Given the description of an element on the screen output the (x, y) to click on. 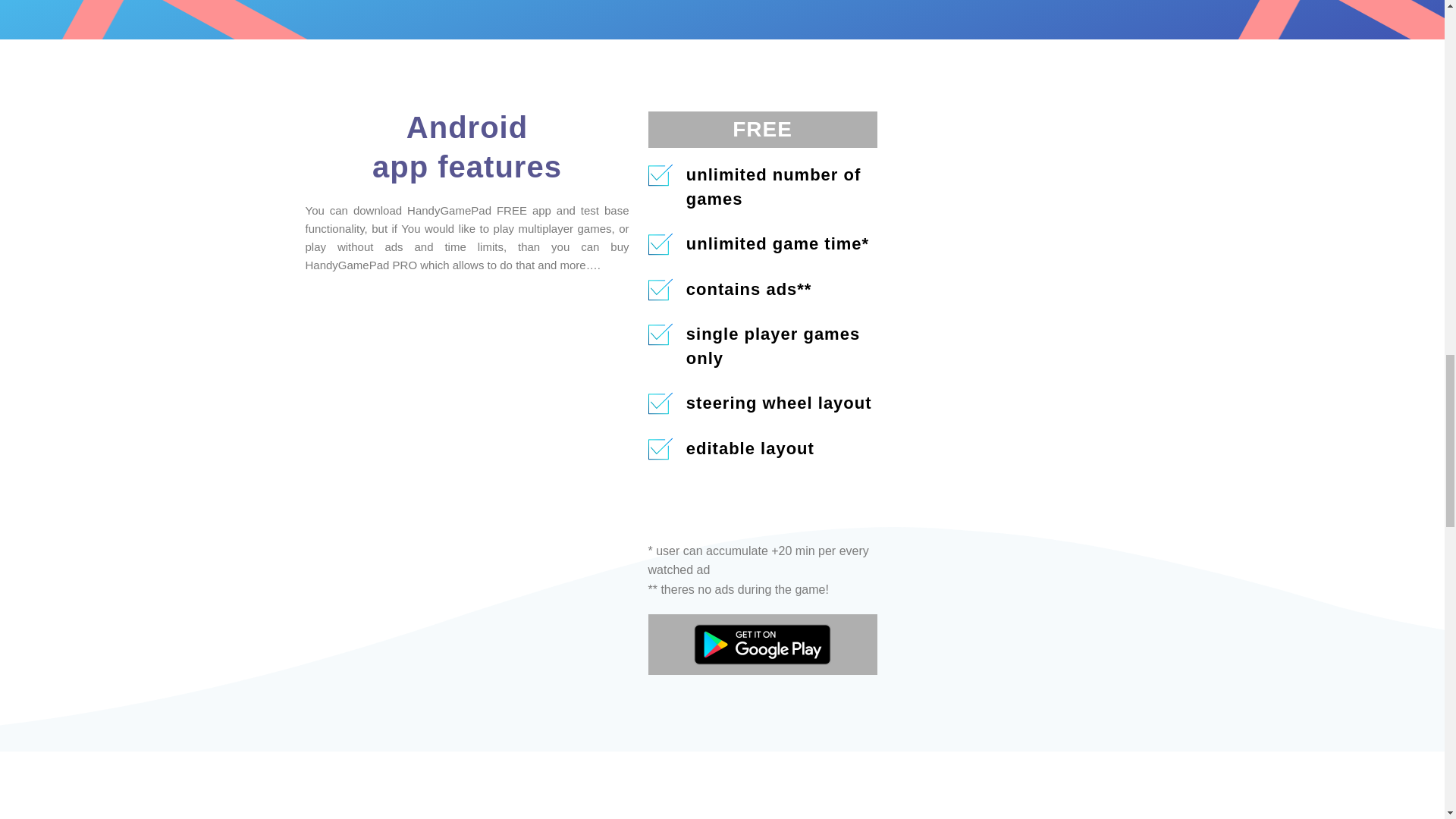
check2 (659, 403)
check2 (659, 289)
check2 (659, 334)
google-play-badge (762, 644)
check2 (659, 243)
check2 (659, 448)
check2 (659, 174)
